Given the description of an element on the screen output the (x, y) to click on. 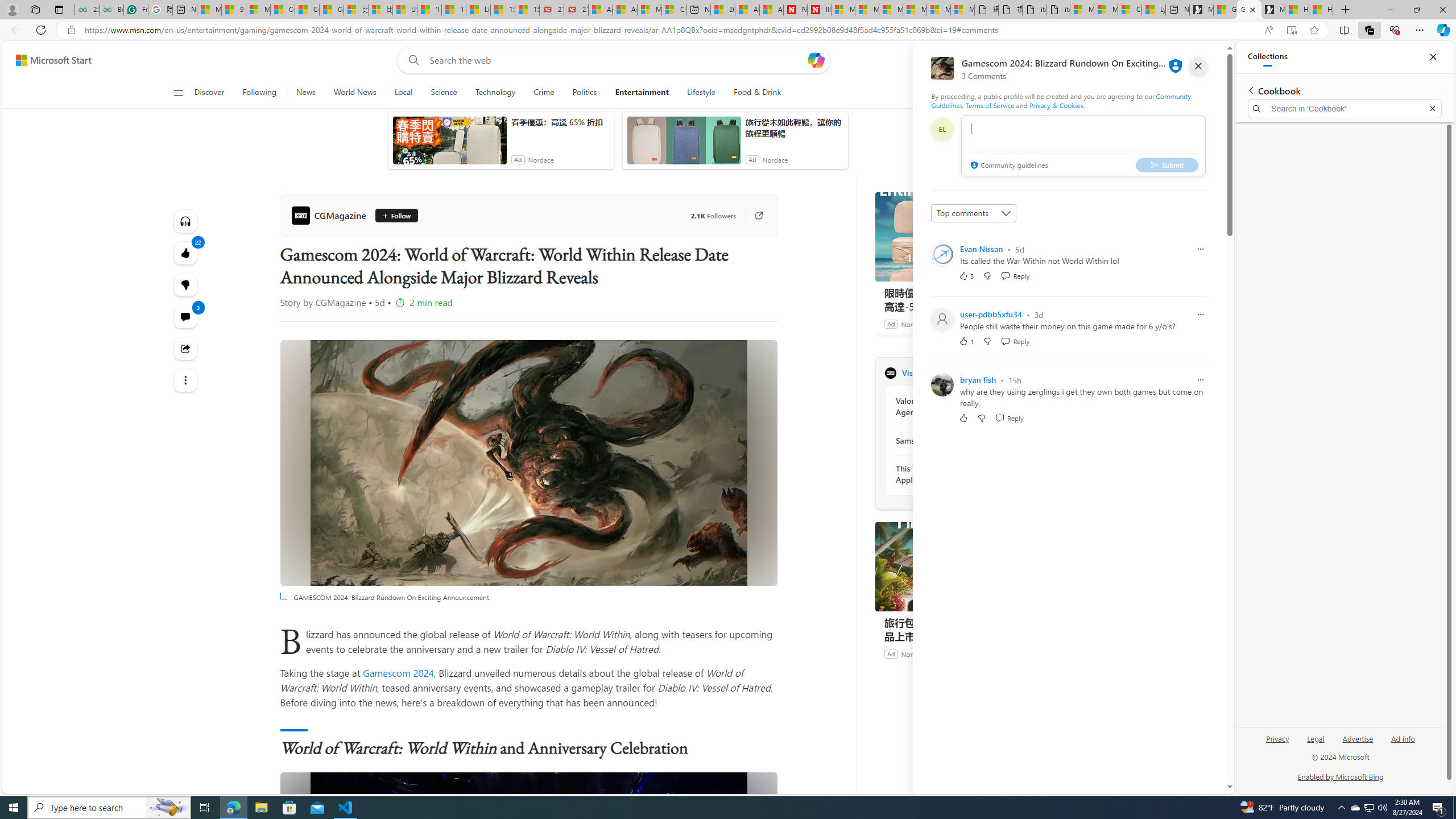
Best SSL Certificates Provider in India - GeeksforGeeks (111, 9)
Newsweek - News, Analysis, Politics, Business, Technology (795, 9)
Consumer Health Data Privacy Policy (1129, 9)
How to Use a TV as a Computer Monitor (1321, 9)
